Given the description of an element on the screen output the (x, y) to click on. 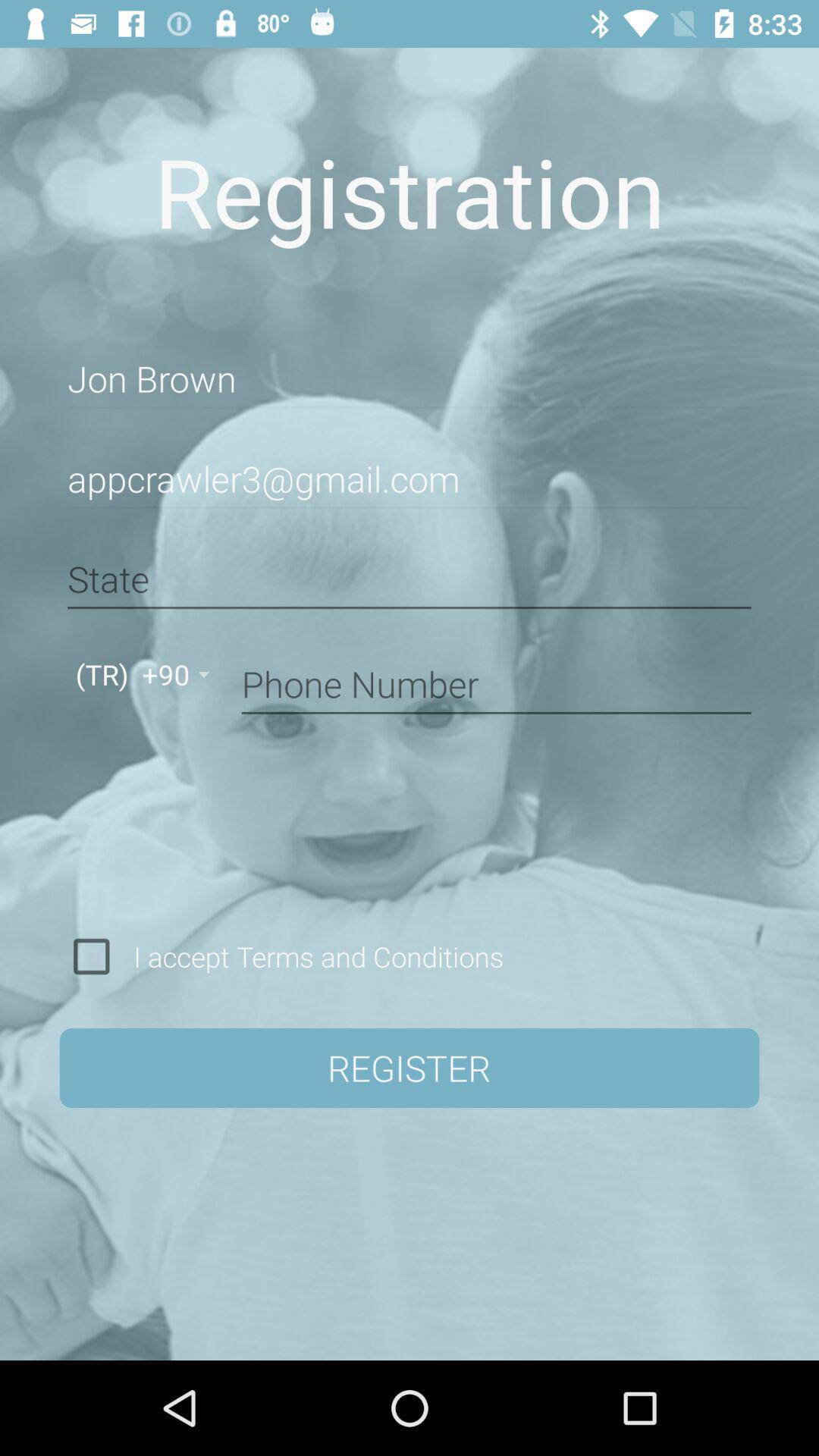
agree to the terms of conditions (91, 956)
